Given the description of an element on the screen output the (x, y) to click on. 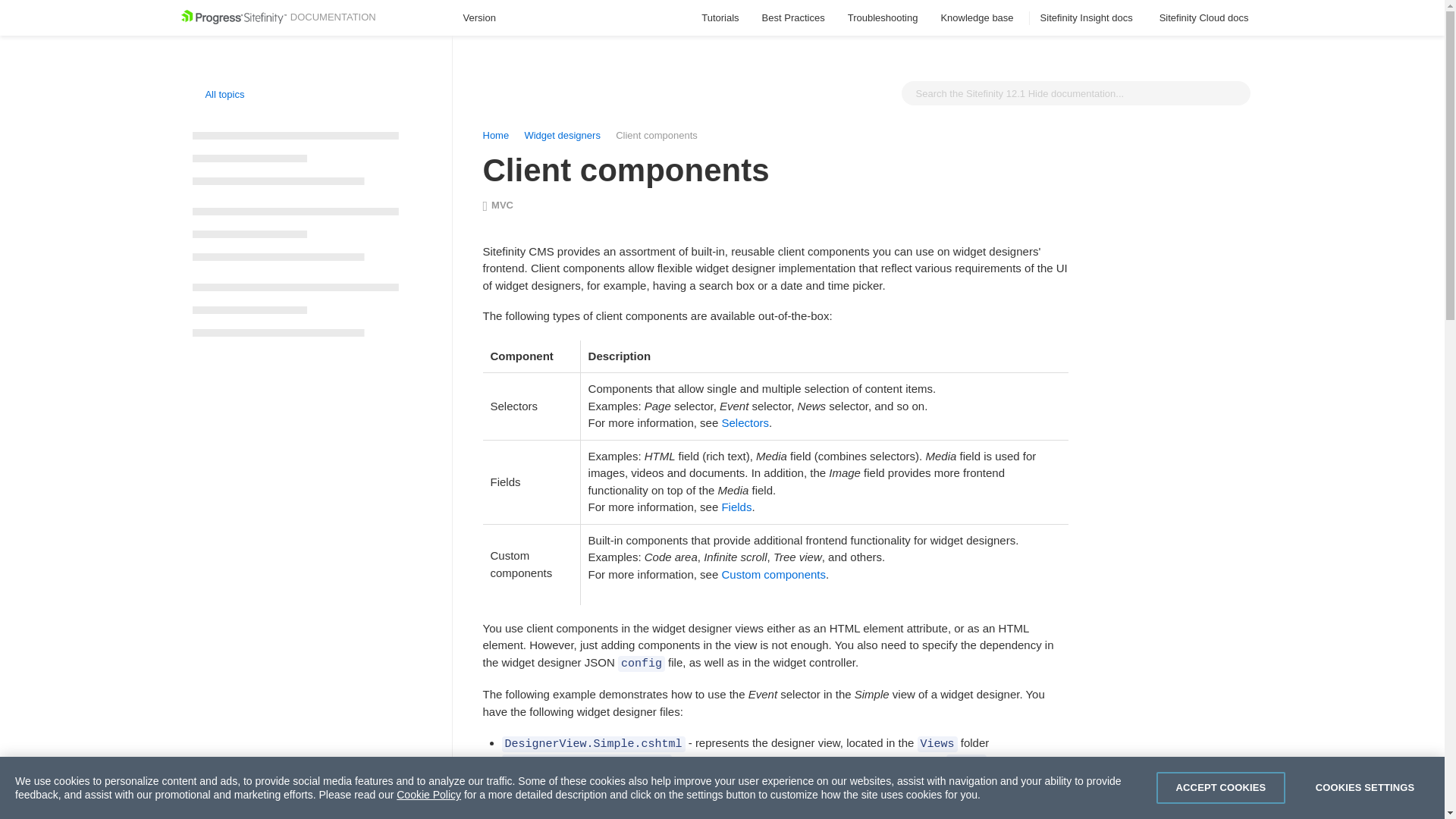
Troubleshooting (882, 18)
Sitefinity Insight docs (1088, 18)
Version (486, 18)
Tutorials (719, 18)
Widget designers (563, 134)
Knowledge base (977, 18)
Fields (735, 506)
Home (494, 134)
Custom components (772, 574)
Selectors (744, 422)
DOCUMENTATION (277, 16)
Search (1234, 93)
Sitefinity Cloud docs (1205, 18)
All topics (218, 93)
Best Practices (793, 18)
